Given the description of an element on the screen output the (x, y) to click on. 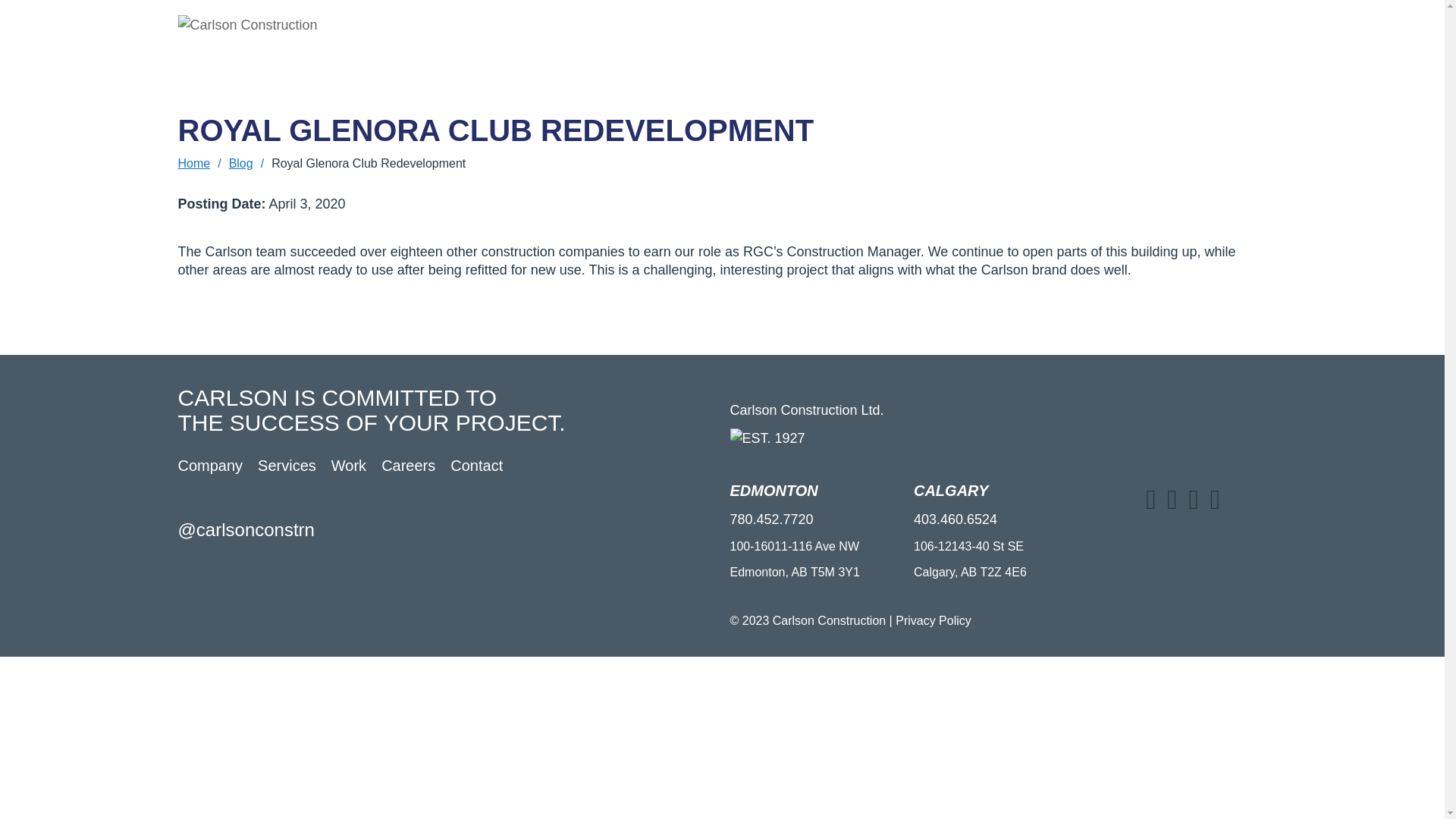
Work Element type: text (348, 467)
Contact Element type: text (476, 467)
Company Element type: text (663, 33)
Careers Element type: text (408, 467)
Careers Element type: text (858, 33)
Carlson Construction Element type: hover (318, 25)
Home Element type: text (597, 33)
Services Element type: text (738, 33)
Services Element type: text (286, 467)
Home Element type: text (193, 162)
Company Element type: text (209, 467)
Privacy Policy Element type: text (933, 620)
403.460.6524 Element type: text (1229, 66)
Contact Element type: text (924, 33)
403.460.6524 Element type: text (955, 519)
780.452.7720 Element type: text (1088, 66)
Plan Room Element type: text (1047, 31)
780.452.7720 Element type: text (770, 519)
Work Element type: text (799, 33)
Blog Element type: text (241, 162)
